Given the description of an element on the screen output the (x, y) to click on. 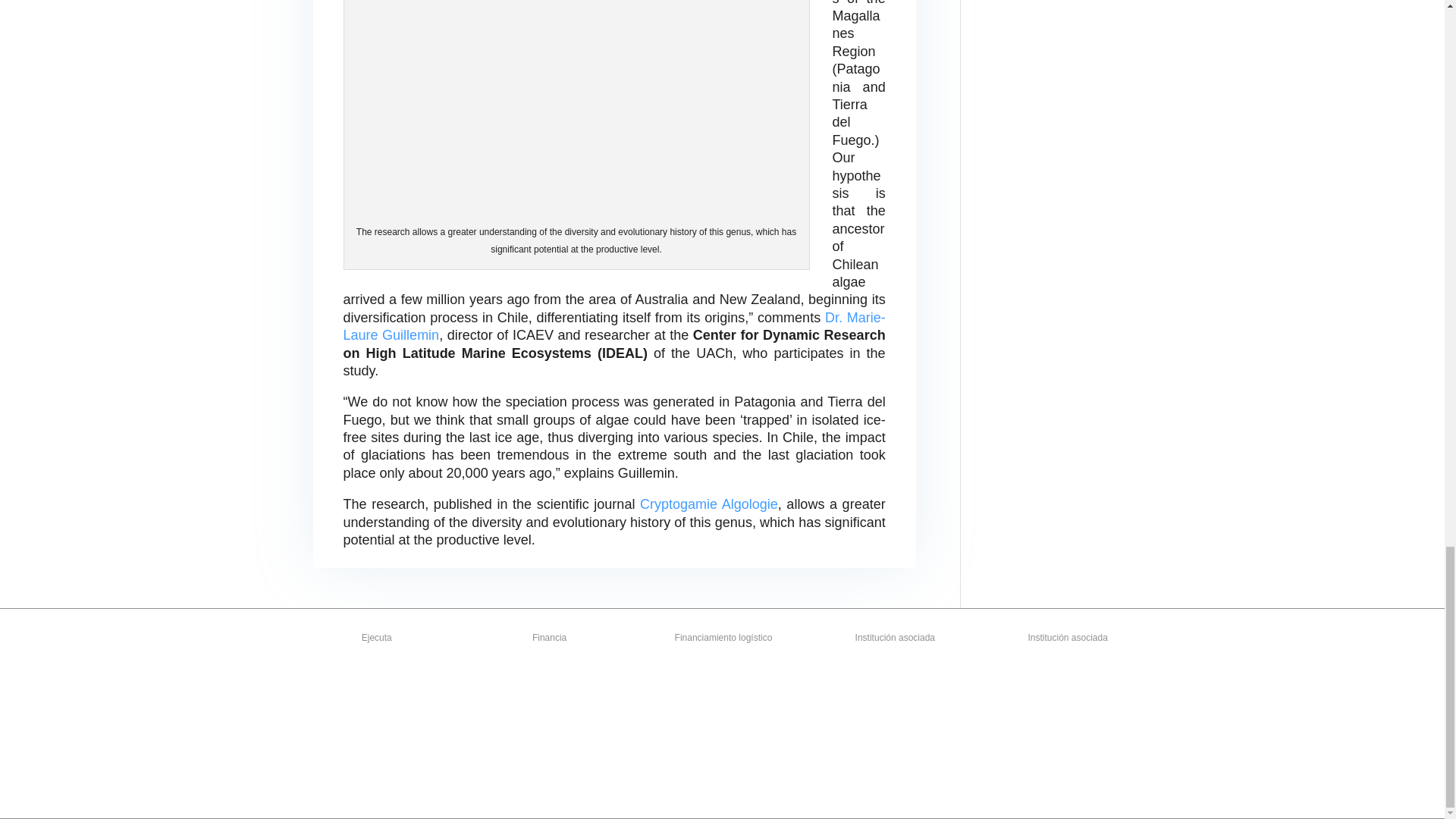
Cryptogamie Algologie (708, 503)
Dr. Marie-Laure Guillemin (613, 326)
